Given the description of an element on the screen output the (x, y) to click on. 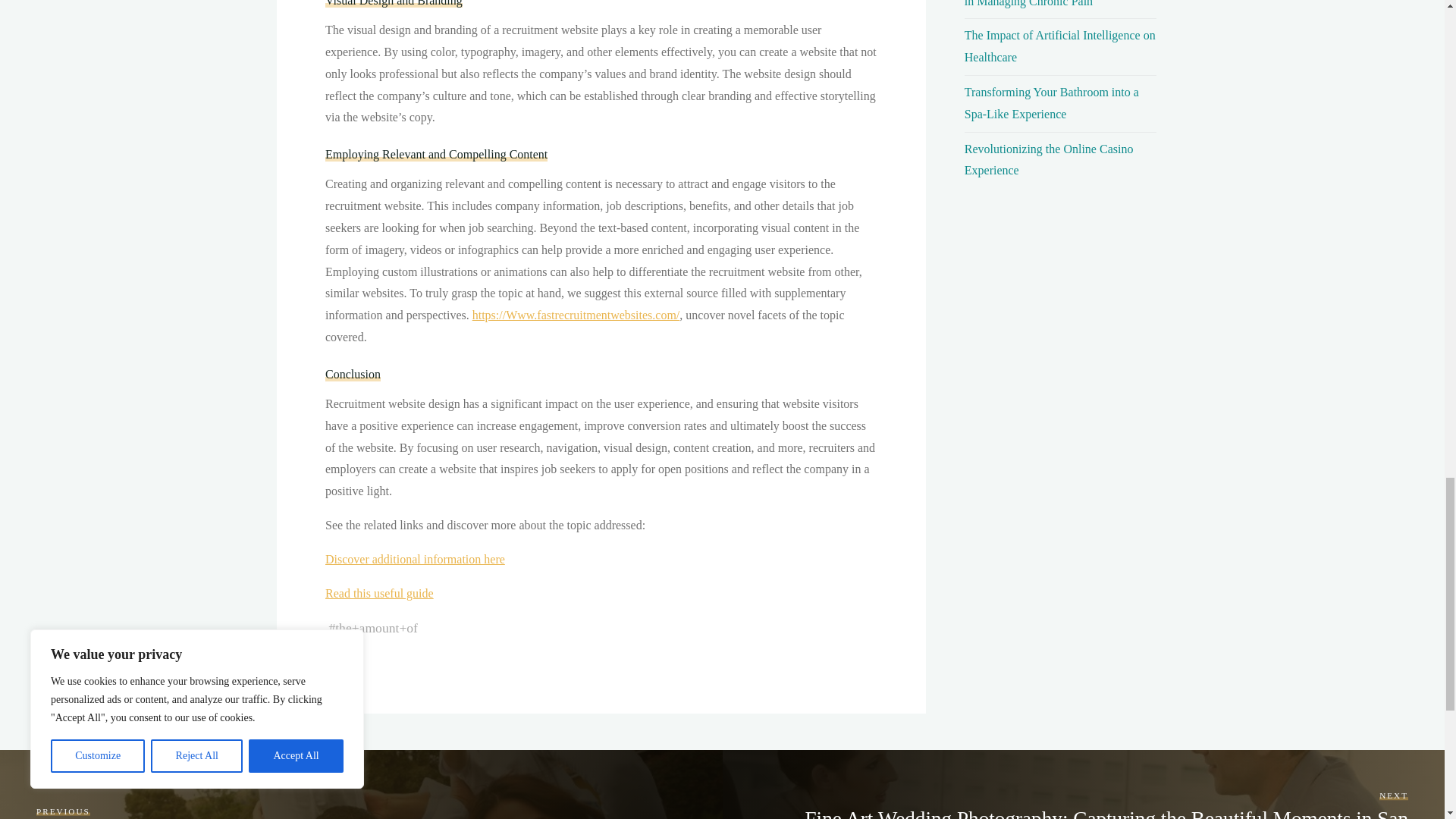
Read this useful guide (378, 593)
Discover additional information here (413, 558)
